Given the description of an element on the screen output the (x, y) to click on. 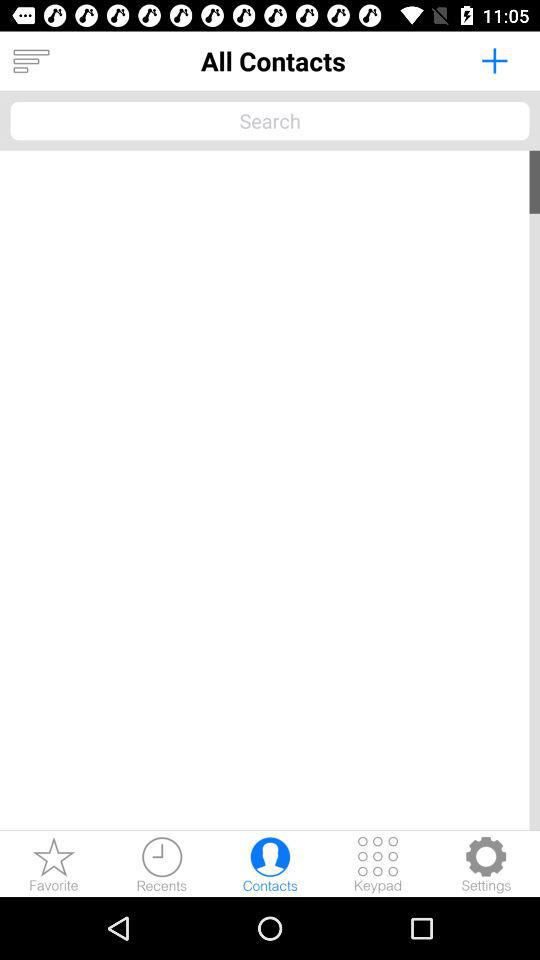
choose item at the top left corner (31, 61)
